Given the description of an element on the screen output the (x, y) to click on. 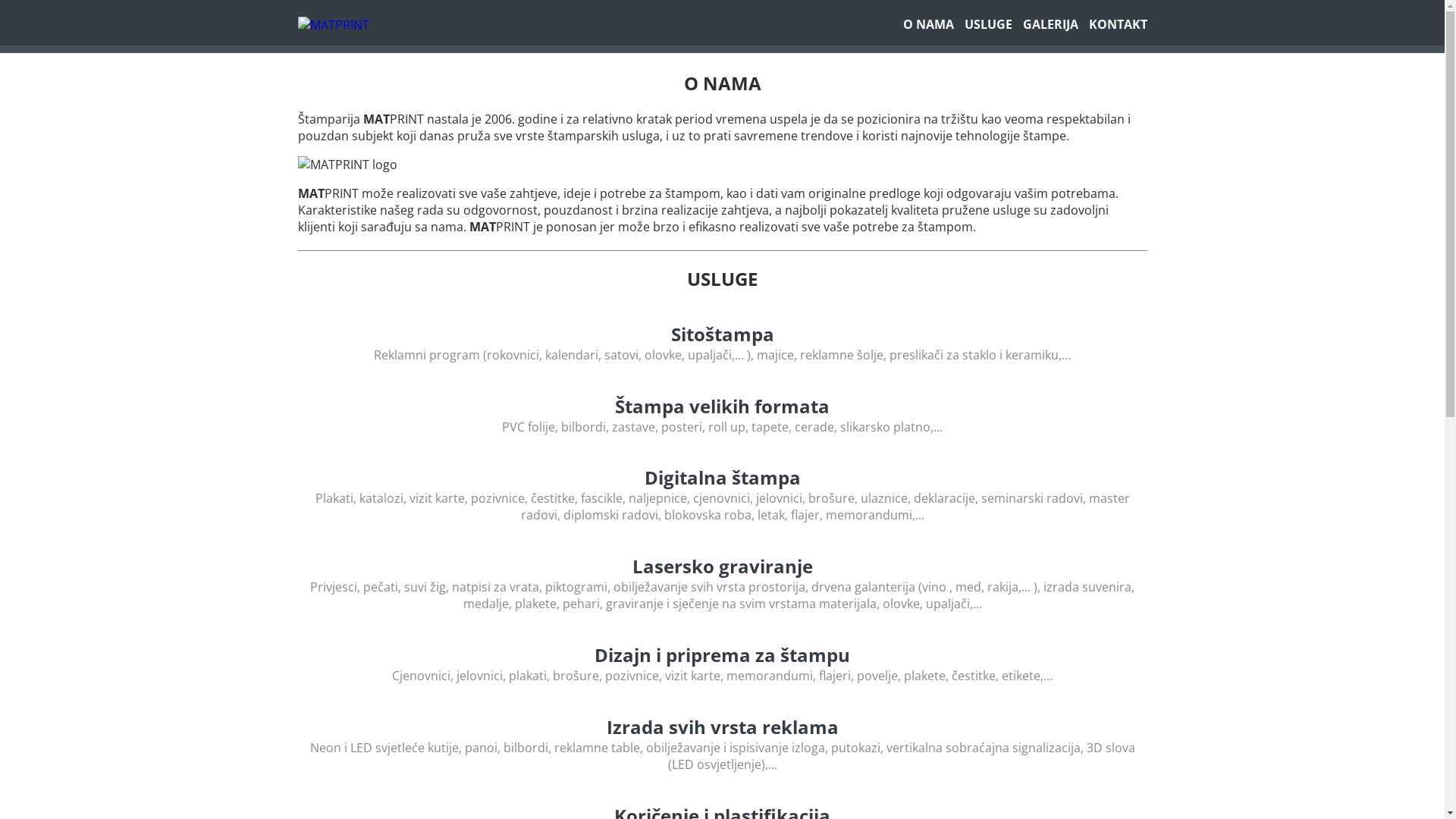
KONTAKT Element type: text (1117, 23)
USLUGE Element type: text (988, 23)
O NAMA Element type: text (927, 23)
Logo MATPRINT Element type: hover (346, 164)
GALERIJA Element type: text (1049, 23)
